Given the description of an element on the screen output the (x, y) to click on. 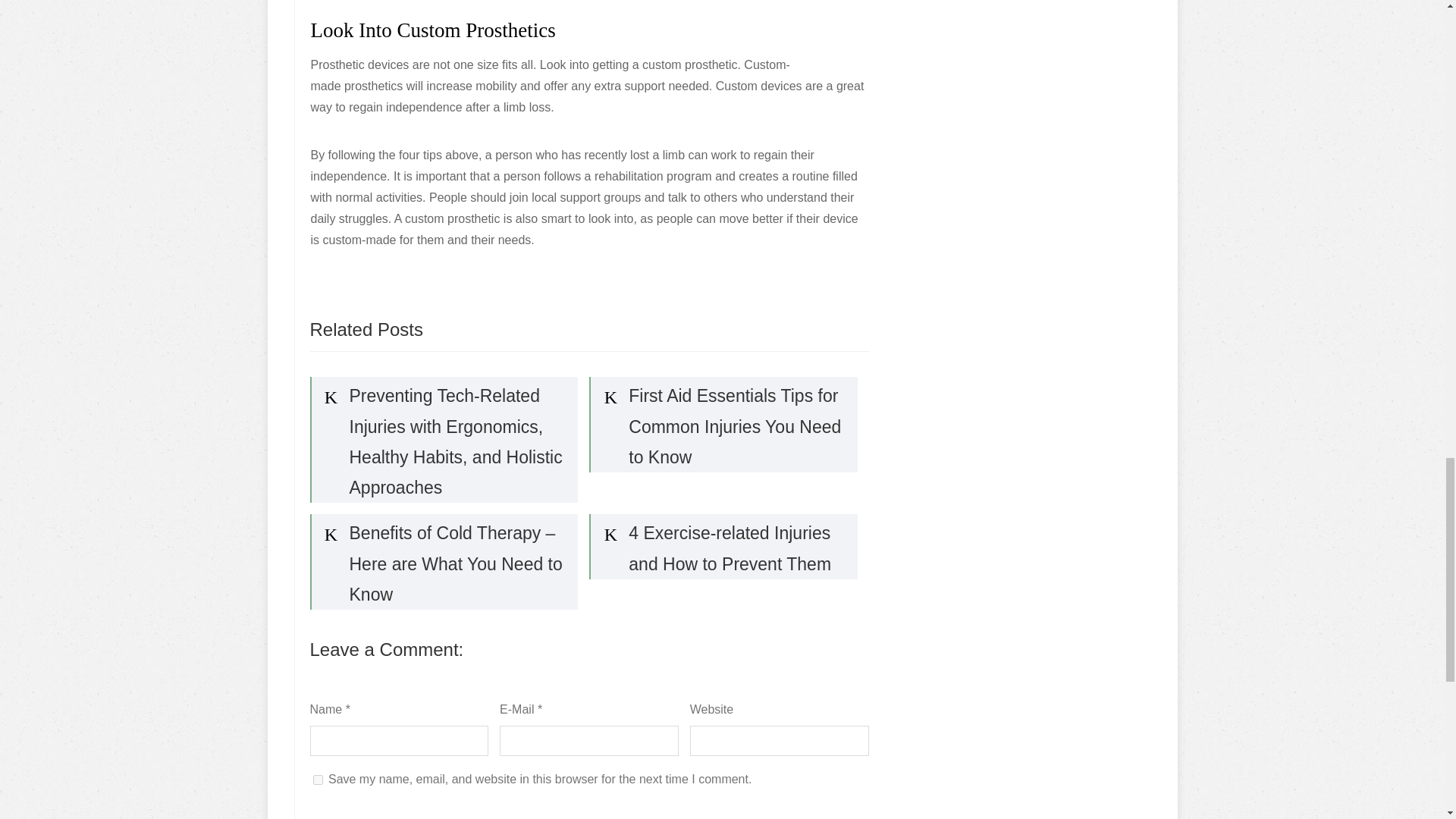
yes (317, 779)
4 Exercise-related Injuries and How to Prevent Them (723, 546)
